Given the description of an element on the screen output the (x, y) to click on. 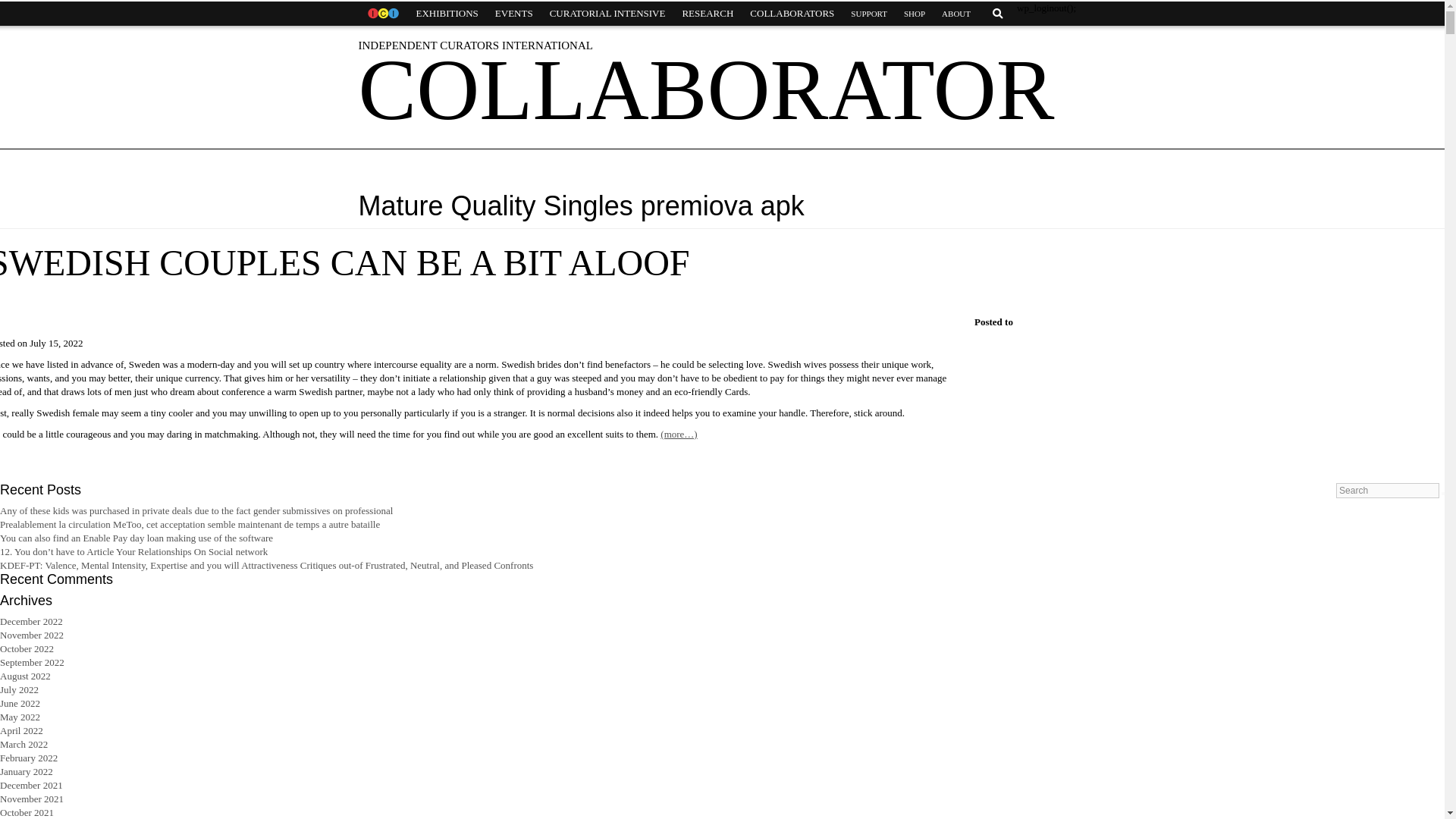
CURATORIAL INTENSIVE (607, 13)
RESEARCH (706, 13)
EXHIBITIONS (446, 13)
EVENTS (513, 13)
COLLABORATORS (792, 13)
HOME (382, 13)
